Given the description of an element on the screen output the (x, y) to click on. 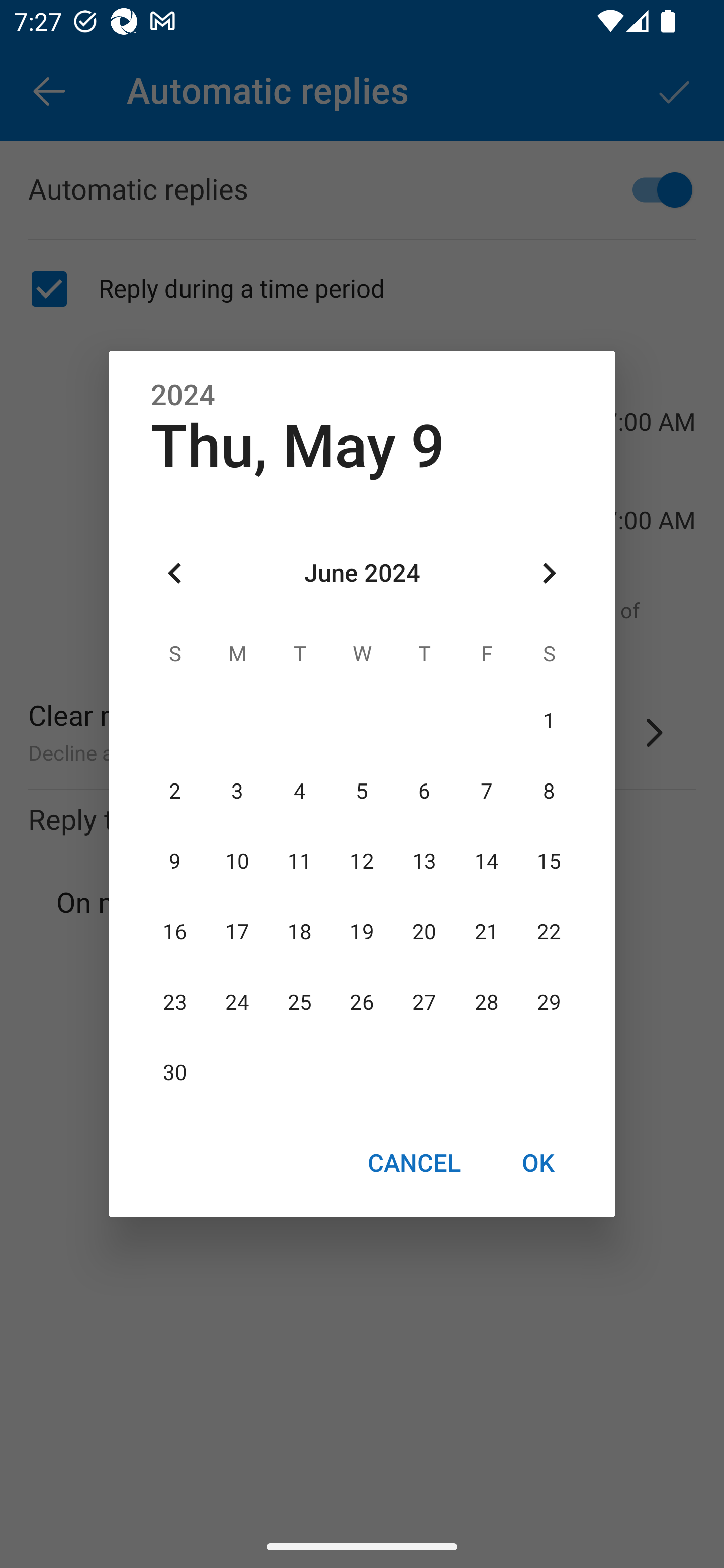
2024 (182, 395)
Thu, May 9 (297, 446)
Previous month (174, 573)
Next month (548, 573)
1 01 June 2024 (548, 720)
2 02 June 2024 (175, 790)
3 03 June 2024 (237, 790)
4 04 June 2024 (299, 790)
5 05 June 2024 (361, 790)
6 06 June 2024 (424, 790)
7 07 June 2024 (486, 790)
8 08 June 2024 (548, 790)
9 09 June 2024 (175, 861)
10 10 June 2024 (237, 861)
11 11 June 2024 (299, 861)
12 12 June 2024 (361, 861)
13 13 June 2024 (424, 861)
14 14 June 2024 (486, 861)
15 15 June 2024 (548, 861)
16 16 June 2024 (175, 931)
17 17 June 2024 (237, 931)
18 18 June 2024 (299, 931)
19 19 June 2024 (361, 931)
20 20 June 2024 (424, 931)
21 21 June 2024 (486, 931)
22 22 June 2024 (548, 931)
23 23 June 2024 (175, 1002)
24 24 June 2024 (237, 1002)
25 25 June 2024 (299, 1002)
26 26 June 2024 (361, 1002)
27 27 June 2024 (424, 1002)
28 28 June 2024 (486, 1002)
29 29 June 2024 (548, 1002)
30 30 June 2024 (175, 1073)
CANCEL (413, 1162)
OK (537, 1162)
